Given the description of an element on the screen output the (x, y) to click on. 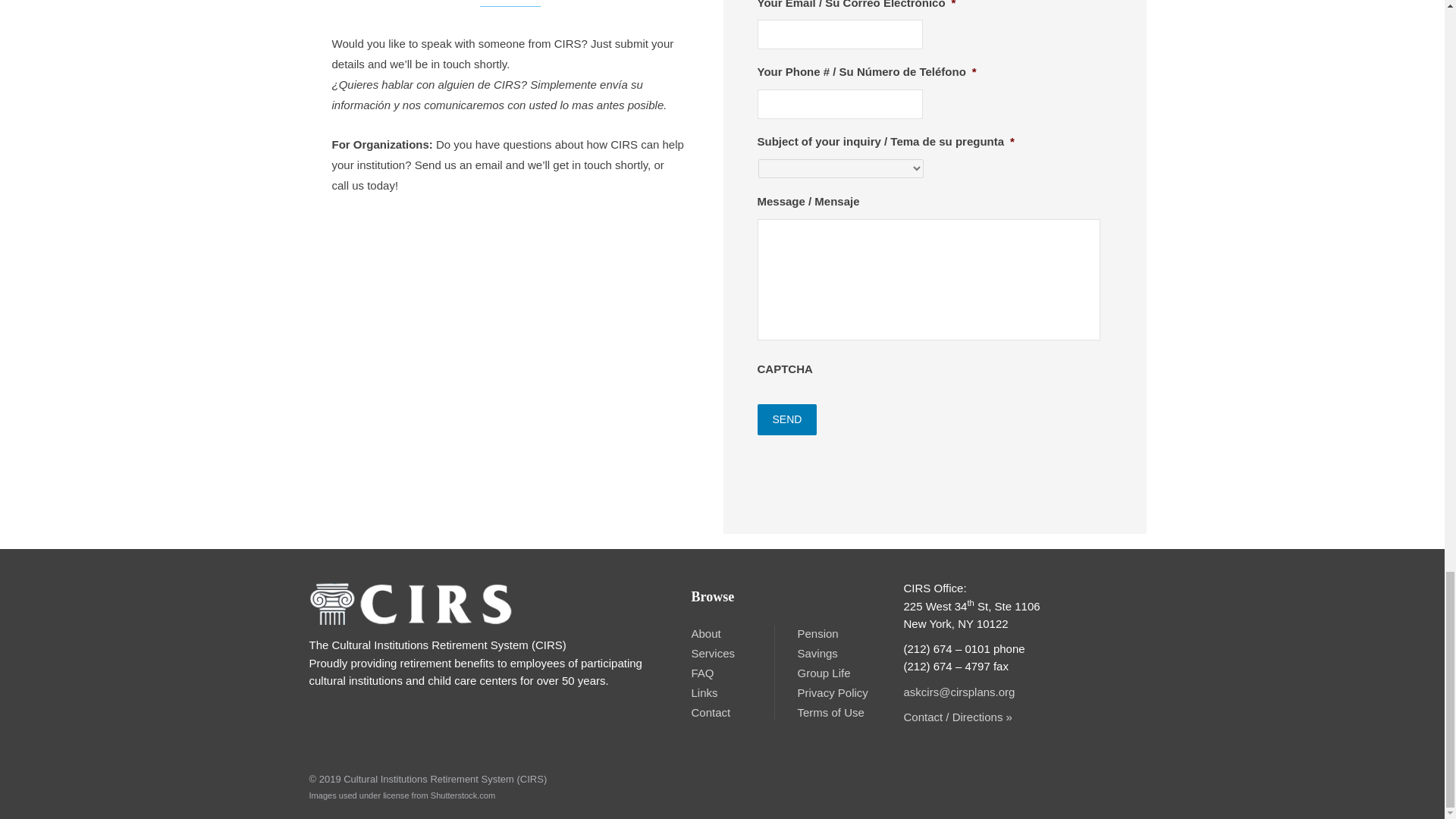
Send (786, 419)
